Given the description of an element on the screen output the (x, y) to click on. 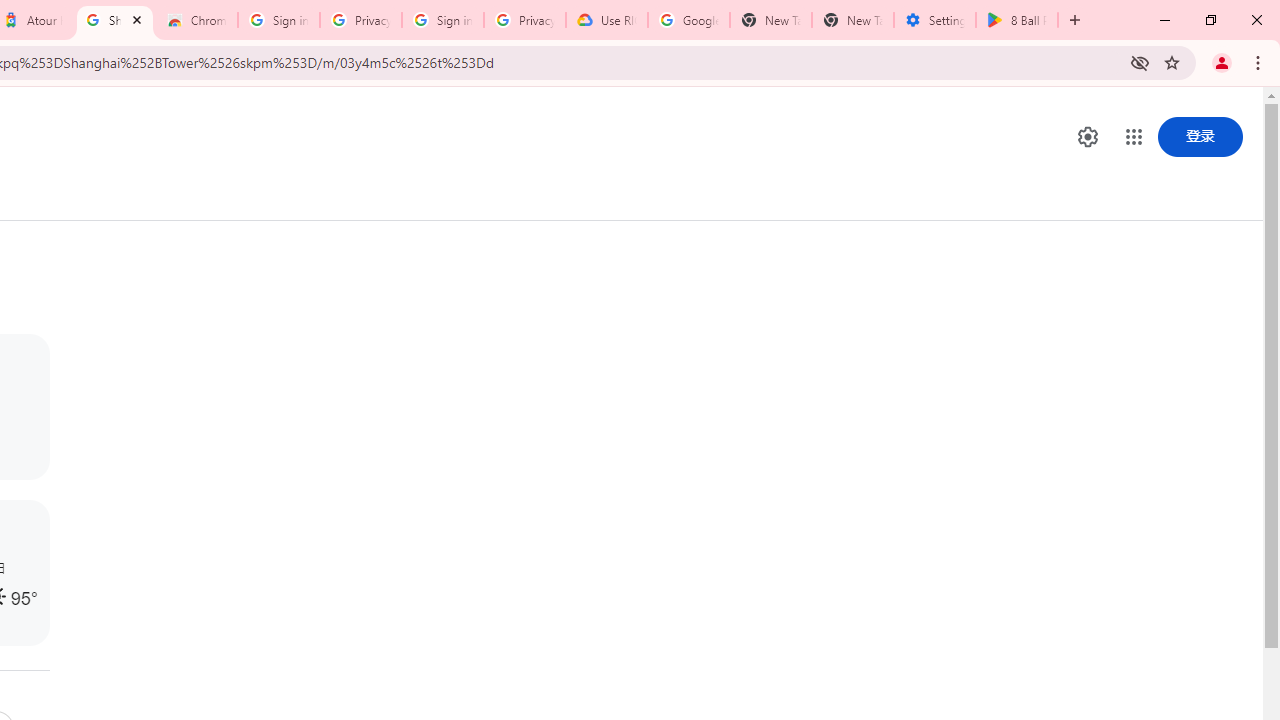
Sign in - Google Accounts (278, 20)
Chrome Web Store - Color themes by Chrome (197, 20)
